Given the description of an element on the screen output the (x, y) to click on. 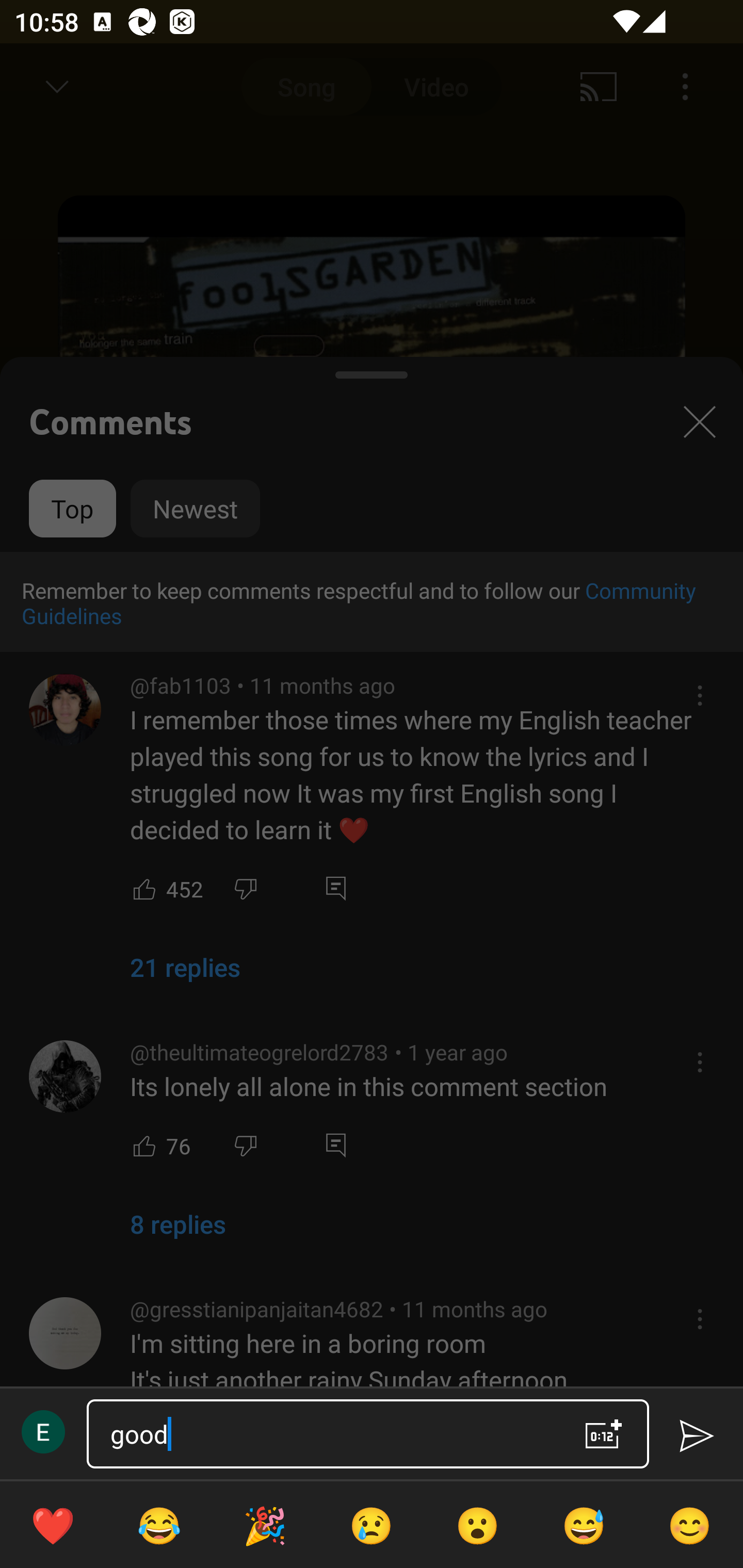
good (329, 1433)
Add a timestamp (603, 1433)
Send comment (695, 1436)
❤ (53, 1524)
😂 (158, 1524)
🎉 (264, 1524)
😢 (371, 1524)
😮 (477, 1524)
😅 (583, 1524)
😊 (689, 1524)
